Given the description of an element on the screen output the (x, y) to click on. 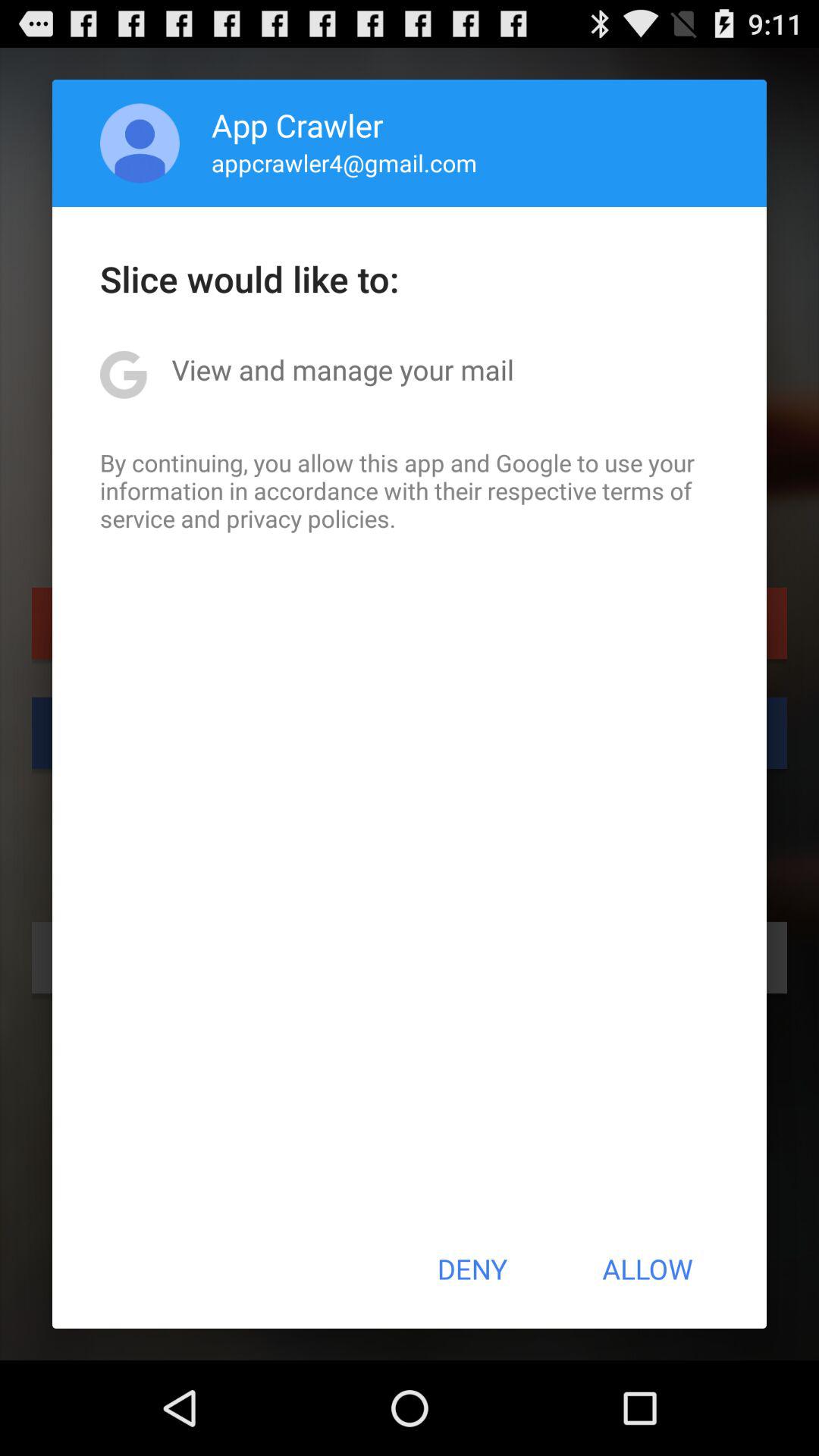
turn off the app above the slice would like icon (139, 143)
